Given the description of an element on the screen output the (x, y) to click on. 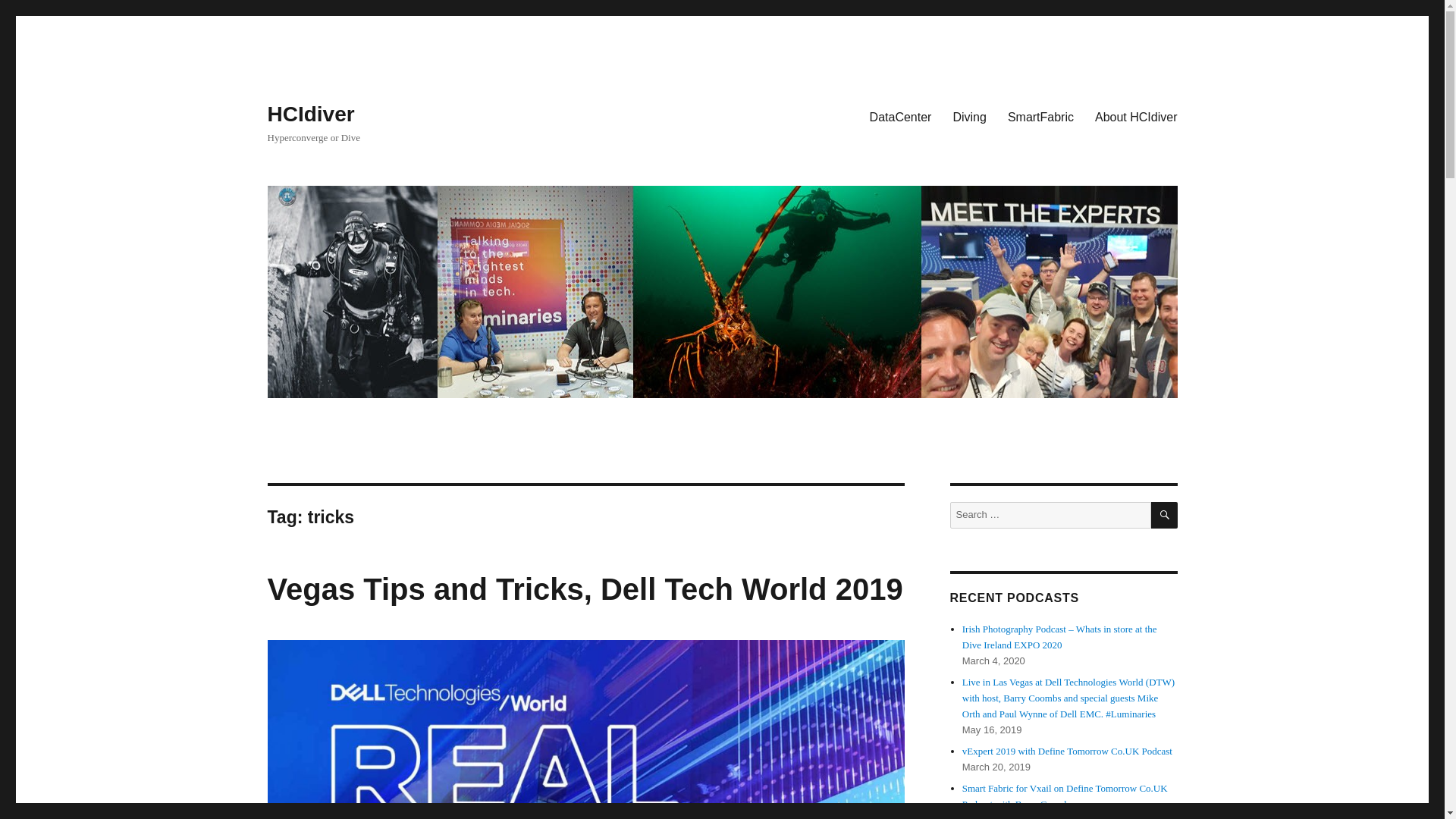
About HCIdiver (1136, 116)
HCIdiver (309, 114)
Vegas Tips and Tricks, Dell Tech World 2019 (584, 589)
DataCenter (900, 116)
Diving (968, 116)
SEARCH (1164, 515)
vExpert 2019 with Define Tomorrow Co.UK Podcast (1067, 750)
SmartFabric (1040, 116)
